Given the description of an element on the screen output the (x, y) to click on. 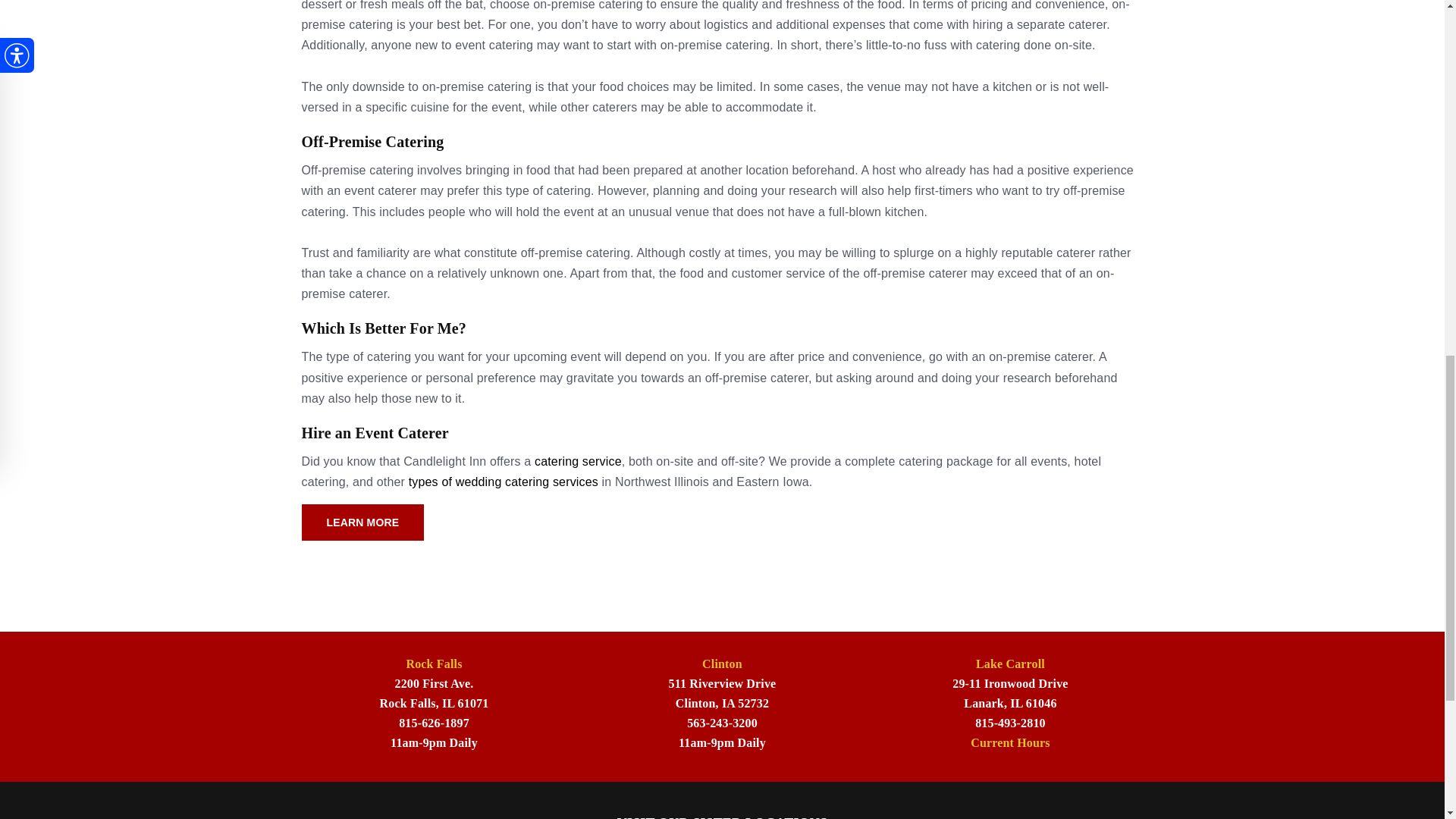
types of wedding catering services (503, 481)
Clinton (721, 663)
Rock Falls (433, 663)
catering service (577, 461)
Current Hours (1010, 742)
Lake Carroll (1010, 663)
LEARN MORE (363, 522)
